Given the description of an element on the screen output the (x, y) to click on. 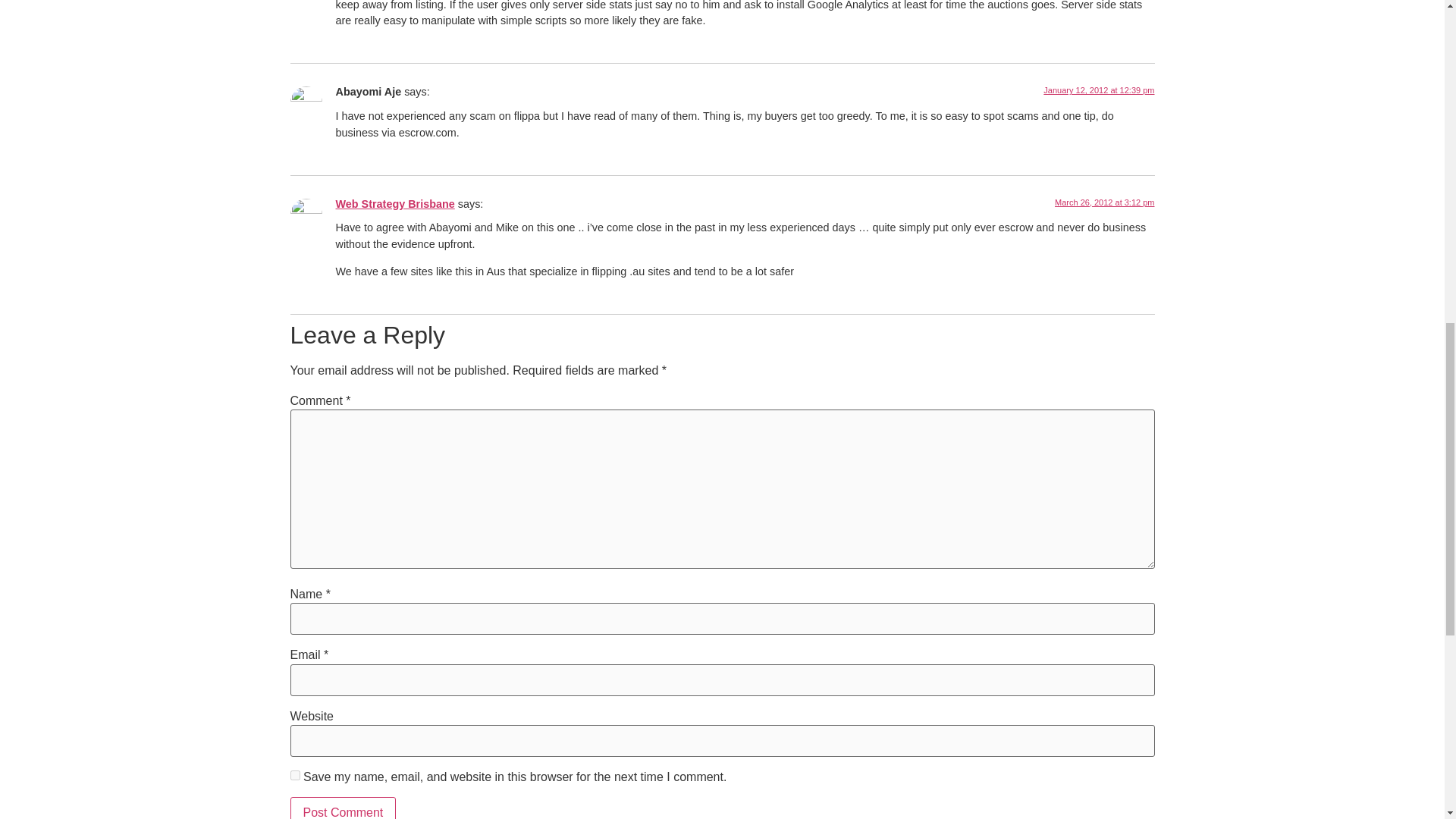
Post Comment (342, 807)
yes (294, 775)
March 26, 2012 at 3:12 pm (1104, 202)
Web Strategy Brisbane (394, 203)
Post Comment (342, 807)
January 12, 2012 at 12:39 pm (1098, 90)
